Given the description of an element on the screen output the (x, y) to click on. 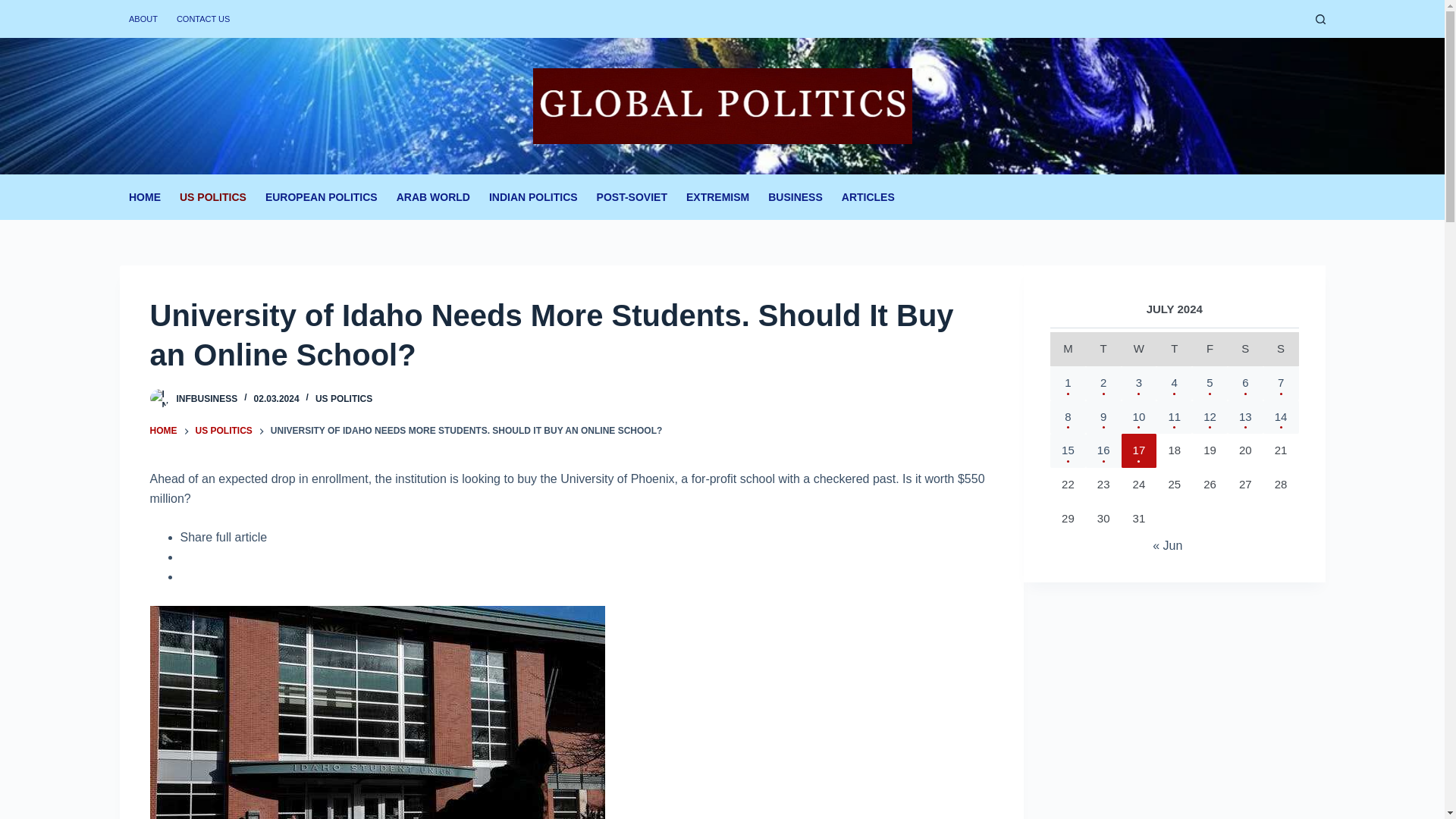
ARAB WORLD (433, 197)
HOME (163, 431)
BUSINESS (795, 197)
POST-SOVIET (631, 197)
Tuesday (1103, 349)
Wednesday (1139, 349)
EUROPEAN POLITICS (321, 197)
Monday (1067, 349)
US POLITICS (223, 431)
Sunday (1280, 349)
INDIAN POLITICS (532, 197)
Thursday (1174, 349)
EXTREMISM (717, 197)
Saturday (1245, 349)
